Given the description of an element on the screen output the (x, y) to click on. 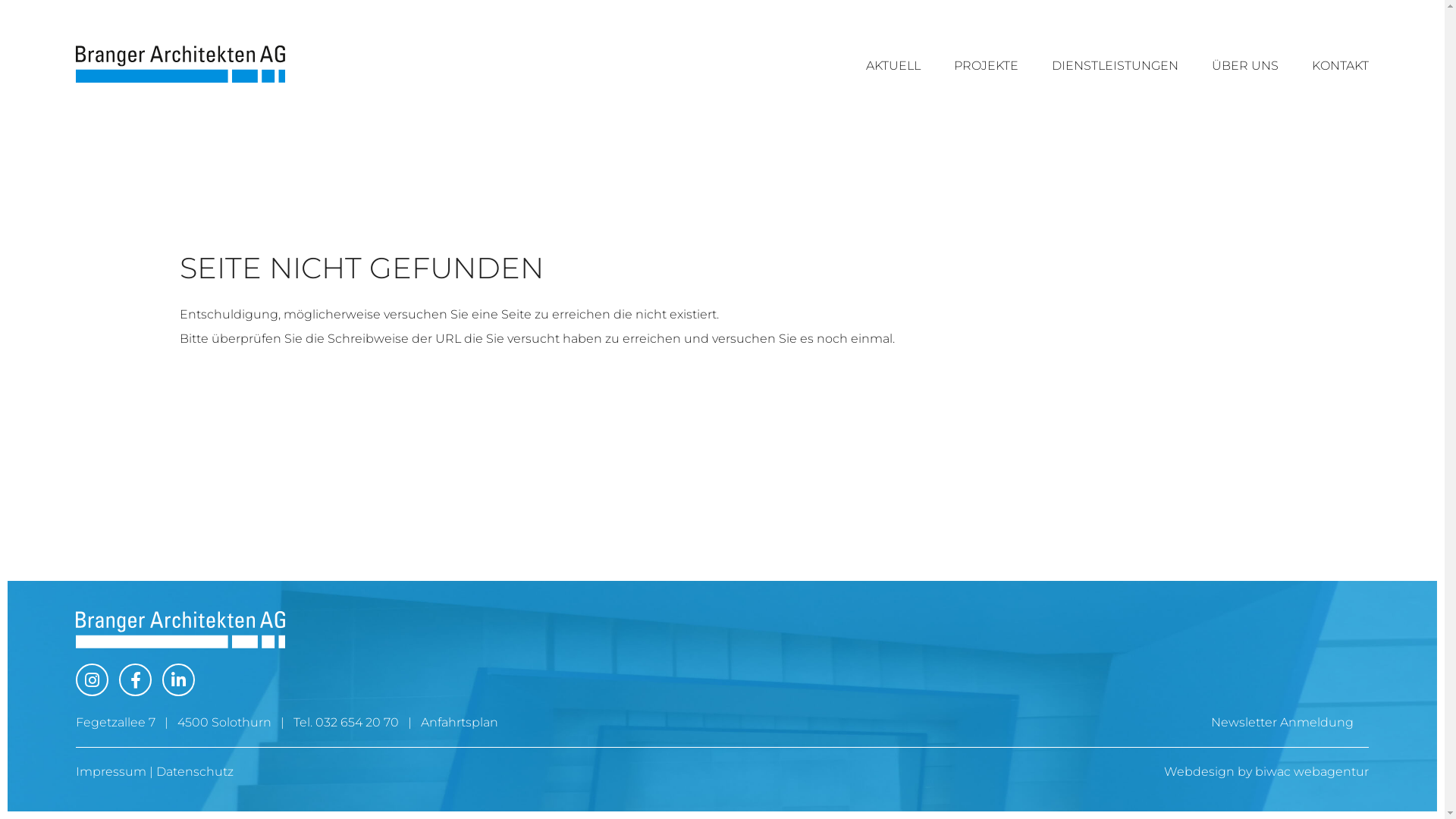
PROJEKTE Element type: text (985, 65)
DIENSTLEISTUNGEN Element type: text (1114, 65)
Branger Architekten AG Element type: hover (180, 63)
Webdesign by biwac webagentur Element type: text (1266, 771)
Anfahrtsplan Element type: text (459, 722)
Branger Architekten AG Element type: hover (180, 629)
AKTUELL Element type: text (893, 65)
Newsletter Anmeldung Element type: text (1281, 722)
Datenschutz Element type: text (194, 771)
KONTAKT Element type: text (1339, 65)
Impressum Element type: text (110, 771)
